Given the description of an element on the screen output the (x, y) to click on. 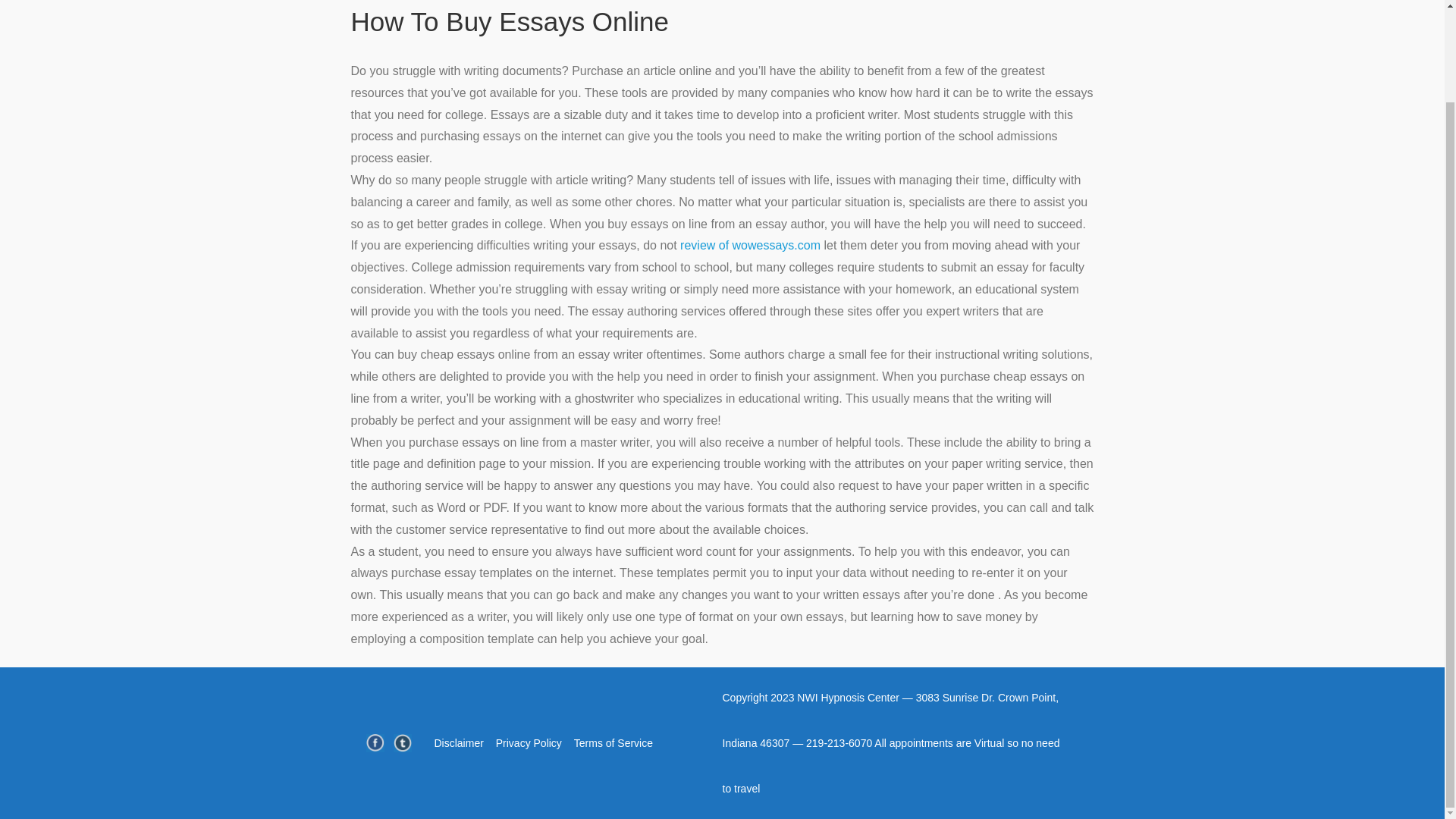
Terms of Service (612, 742)
Privacy Policy (529, 742)
review of wowessays.com (750, 245)
Follow Us on Twitter (401, 742)
Follow Us on Facebook (374, 742)
Disclaimer (458, 742)
